Given the description of an element on the screen output the (x, y) to click on. 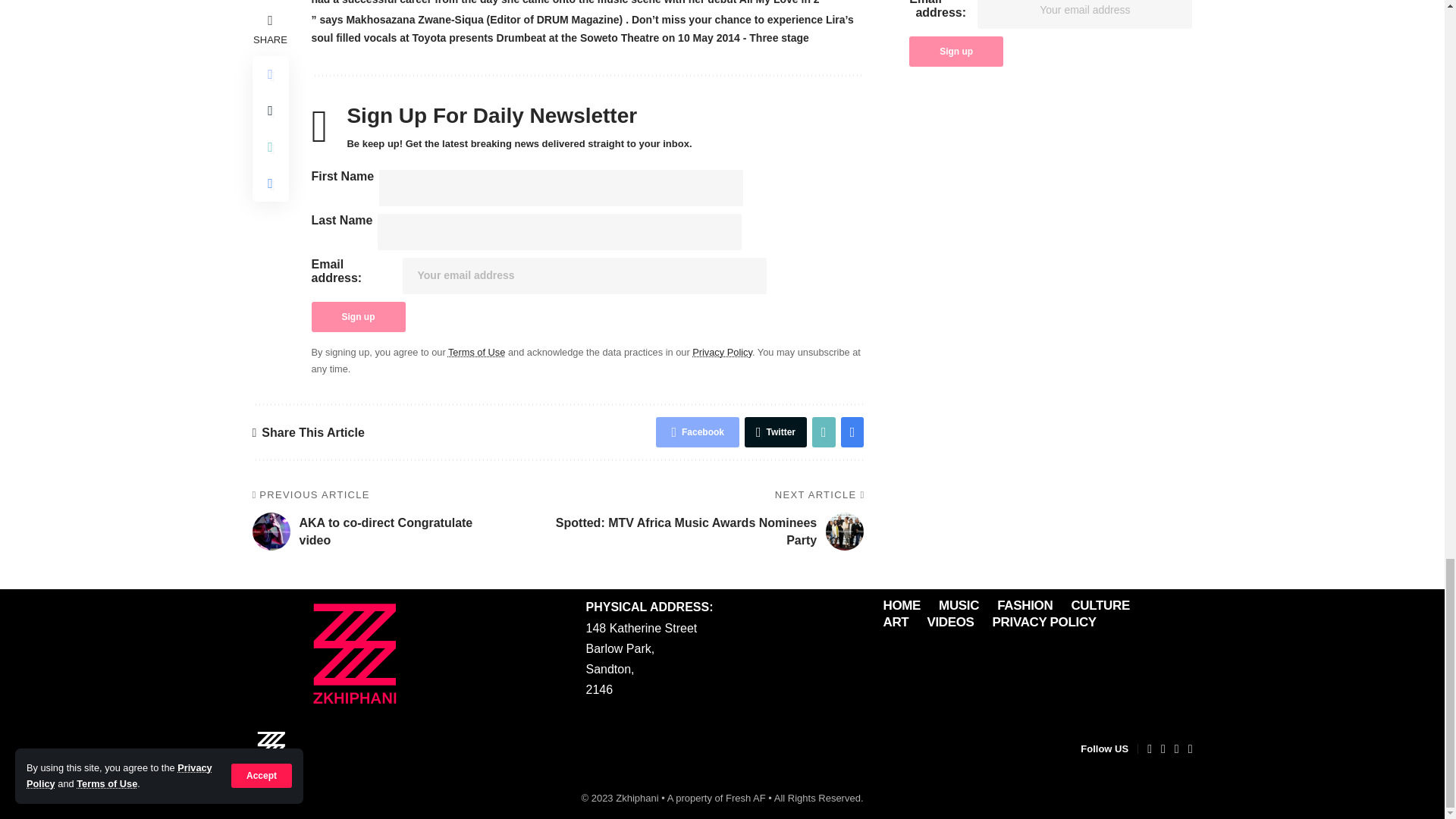
Sign up (357, 317)
Zkhiphani (270, 748)
